Given the description of an element on the screen output the (x, y) to click on. 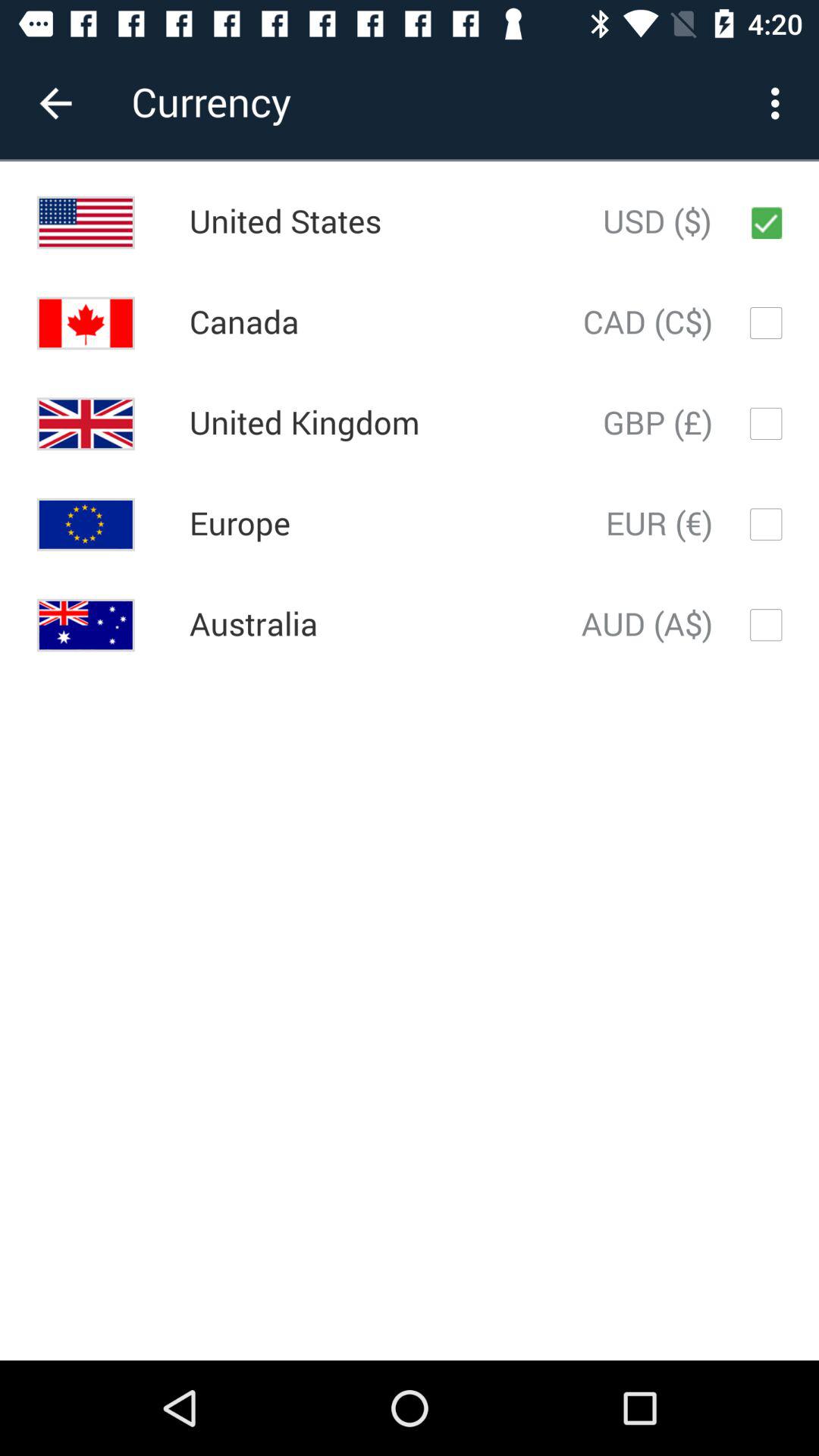
turn on canada icon (244, 322)
